Given the description of an element on the screen output the (x, y) to click on. 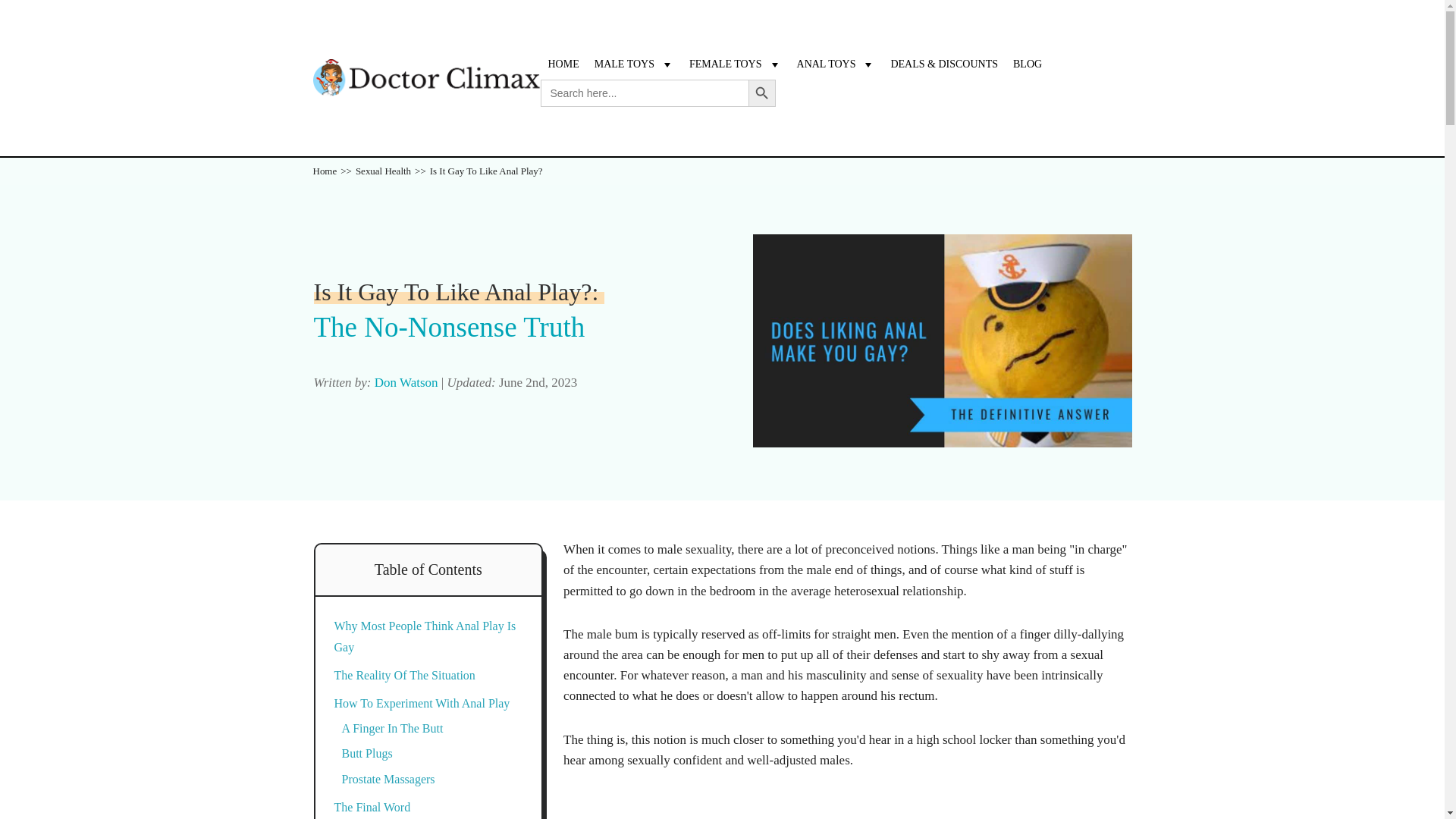
FEMALE TOYS (735, 64)
MALE TOYS (633, 64)
is it gay to like anal cover image (941, 340)
ANAL TOYS (836, 64)
HOME (563, 64)
